Given the description of an element on the screen output the (x, y) to click on. 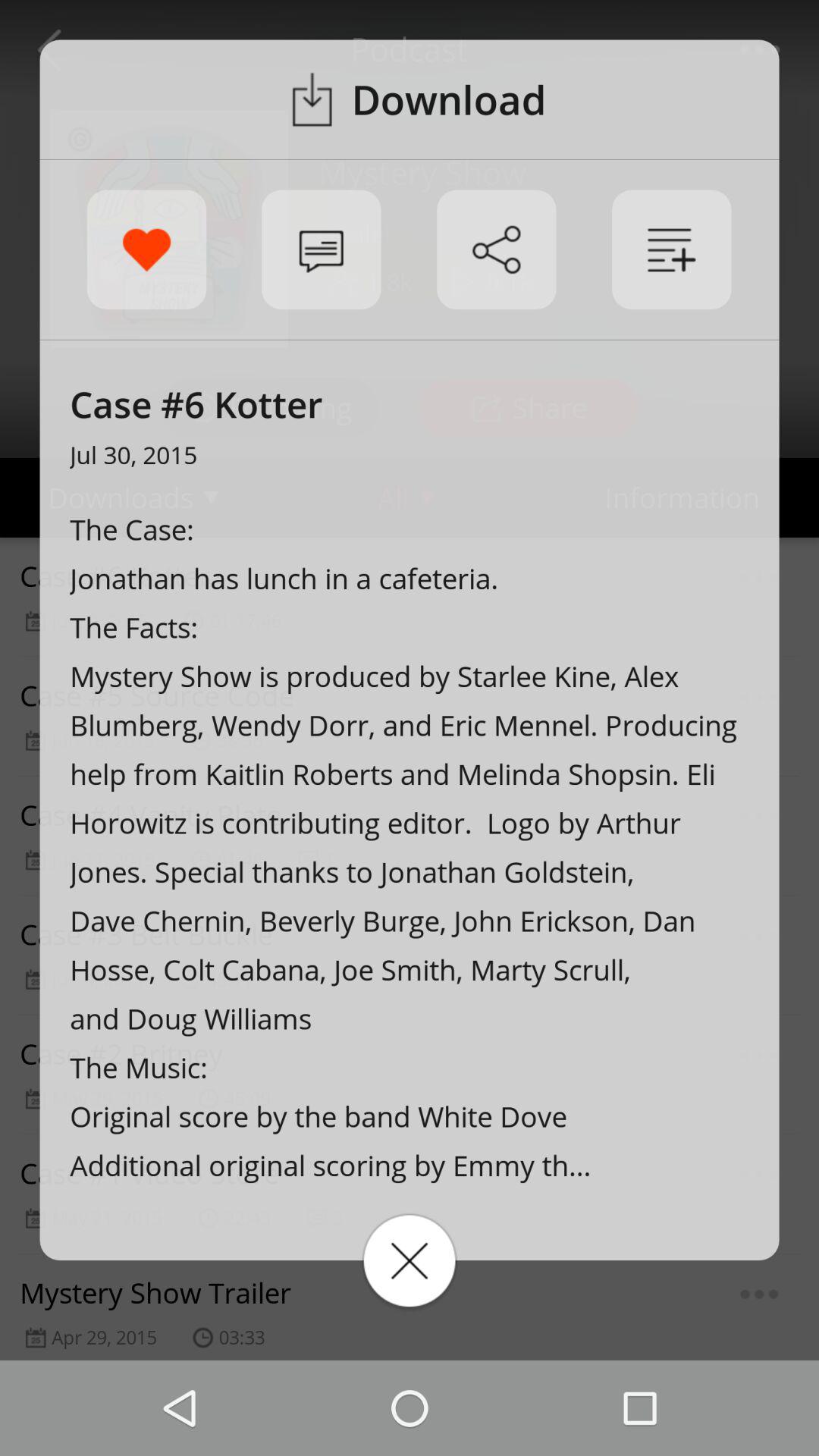
comments (321, 249)
